Given the description of an element on the screen output the (x, y) to click on. 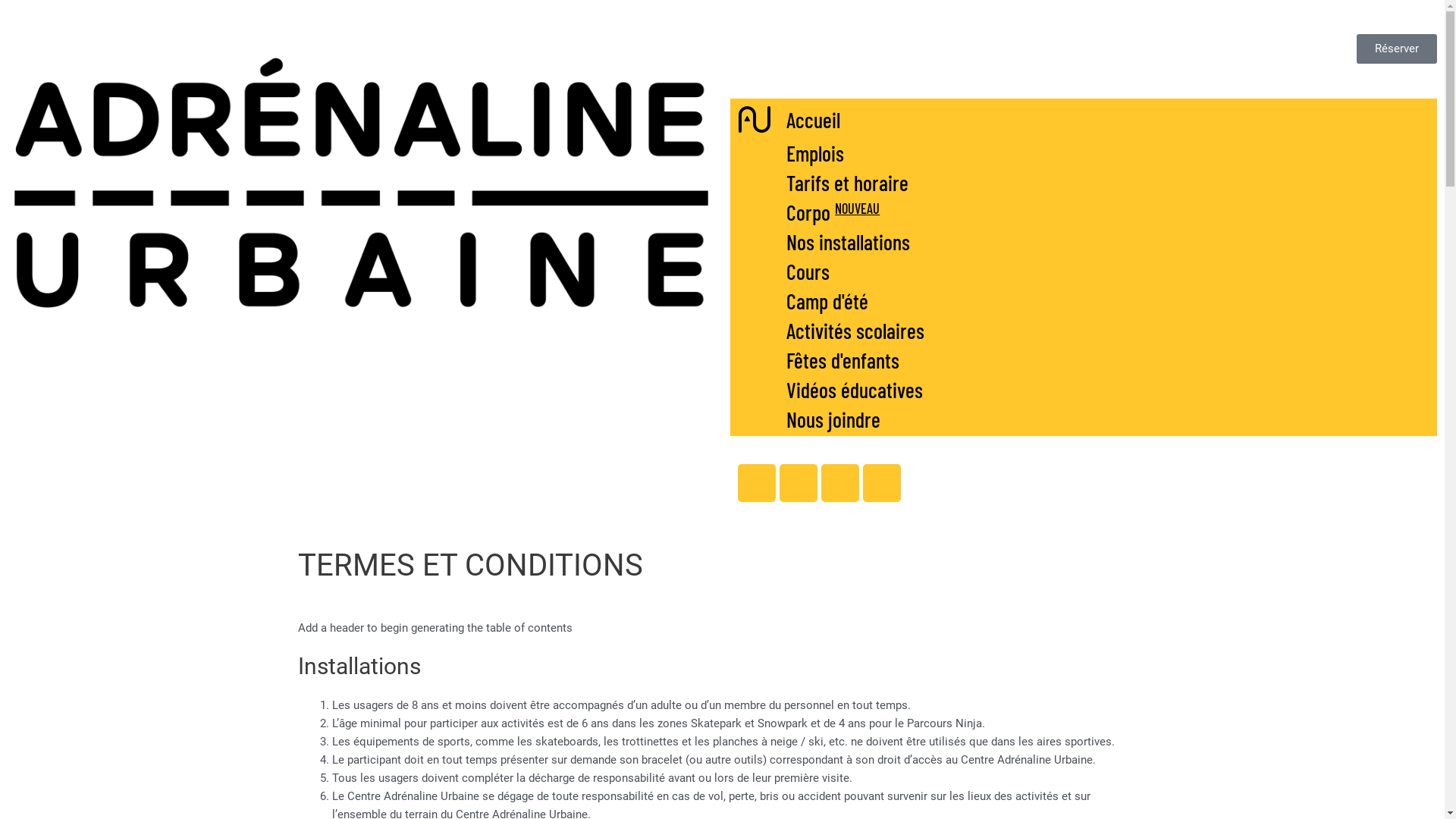
Accueil Element type: text (1083, 119)
Facebook Element type: text (756, 483)
Cours Element type: text (1083, 271)
Instagram Element type: text (839, 483)
Tiktok Element type: text (881, 483)
Youtube Element type: text (798, 483)
Emplois Element type: text (1083, 153)
Tarifs et horaire Element type: text (1083, 182)
Nos installations Element type: text (1083, 241)
Corpo NOUVEAU Element type: text (1083, 212)
Nous joindre Element type: text (1083, 419)
